Given the description of an element on the screen output the (x, y) to click on. 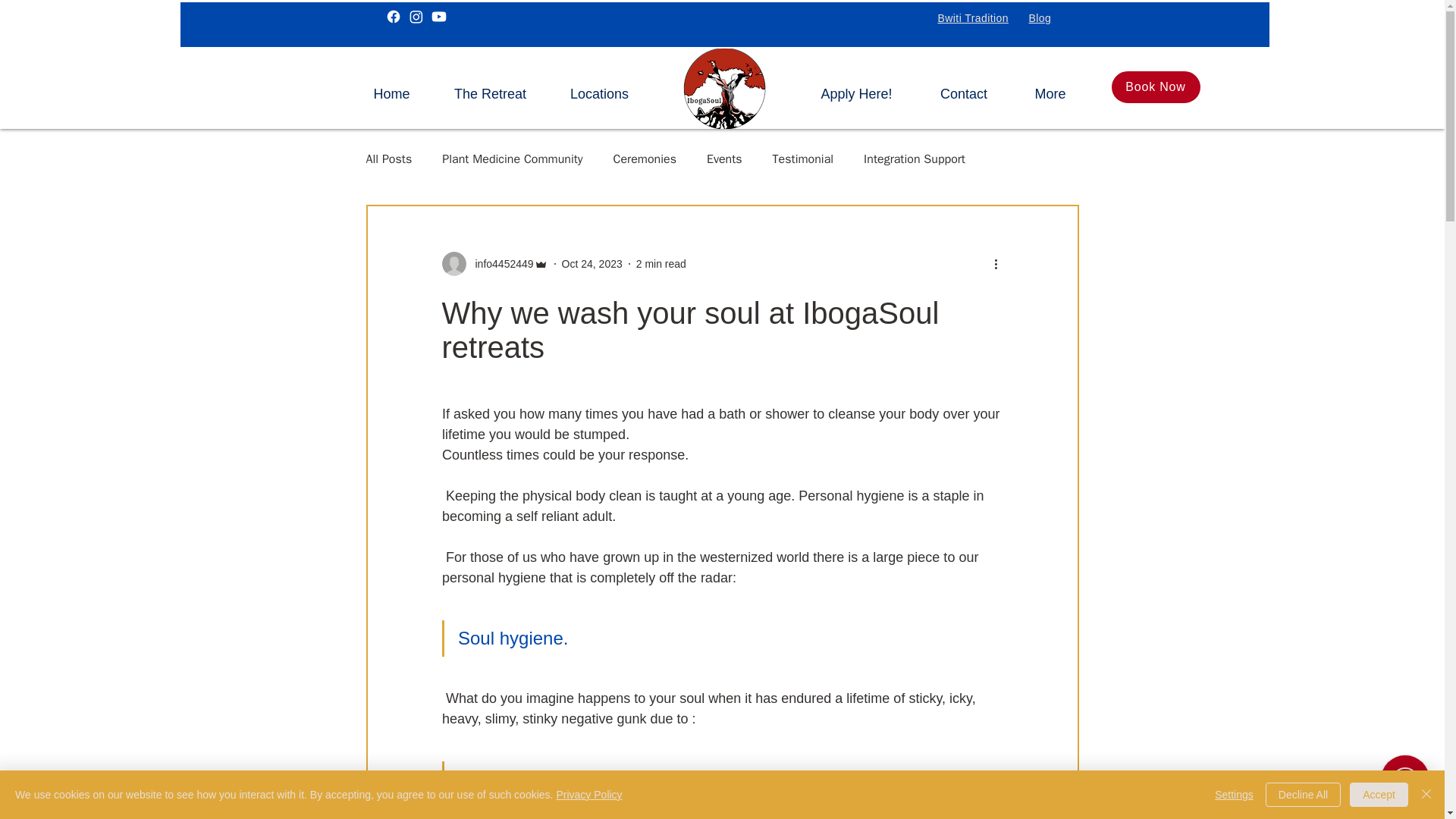
All Posts (388, 159)
Locations (598, 87)
Plant Medicine Community (512, 159)
Apply Here! (855, 87)
Testimonial (803, 159)
Contact (962, 87)
info4452449 (494, 263)
Oct 24, 2023 (592, 263)
2 min read (660, 263)
Integration Support (914, 159)
Book Now (1155, 87)
Bwiti Tradition (972, 18)
Ceremonies (644, 159)
Events (724, 159)
Blog (1039, 18)
